Given the description of an element on the screen output the (x, y) to click on. 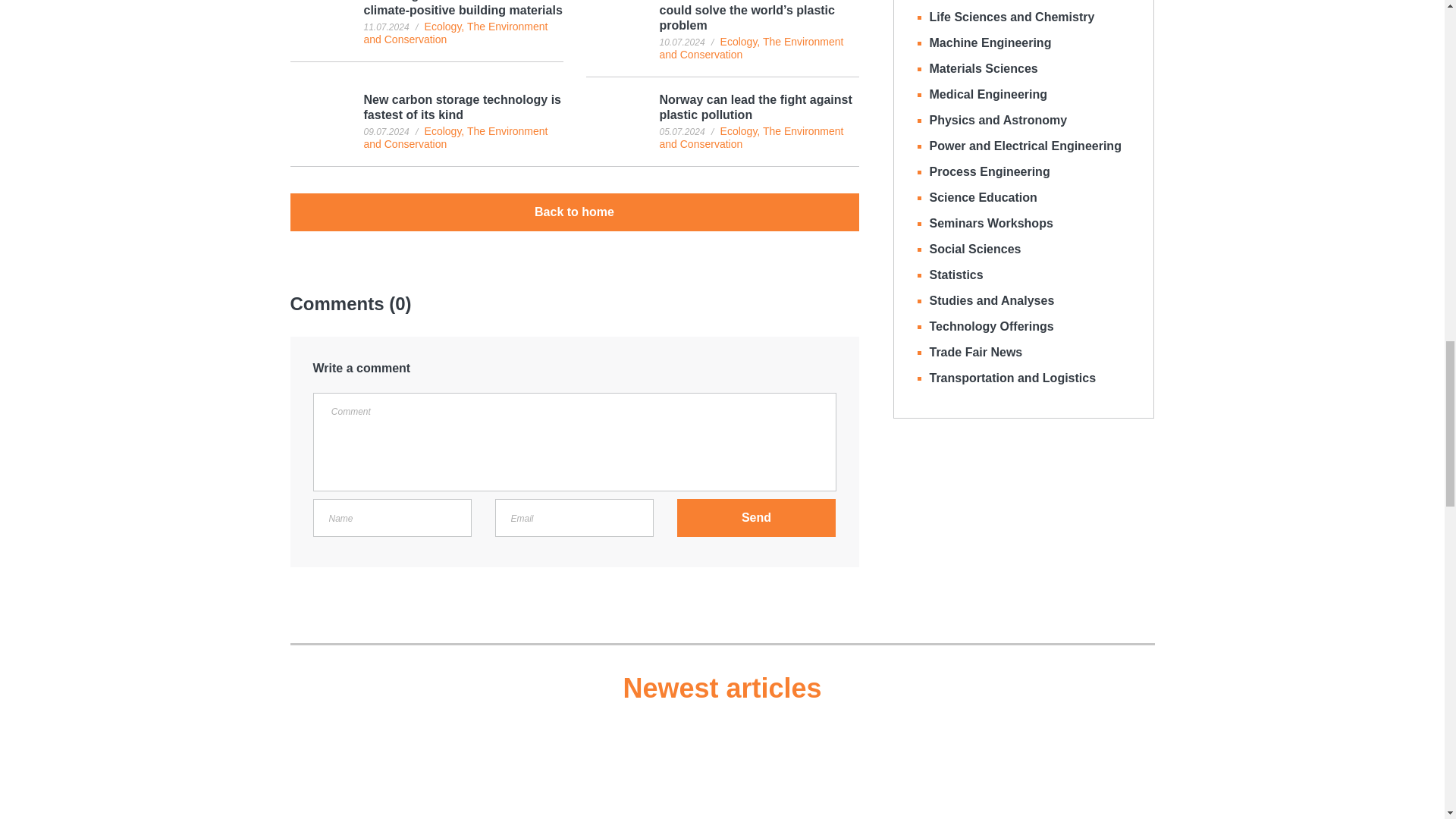
Send (756, 517)
